Given the description of an element on the screen output the (x, y) to click on. 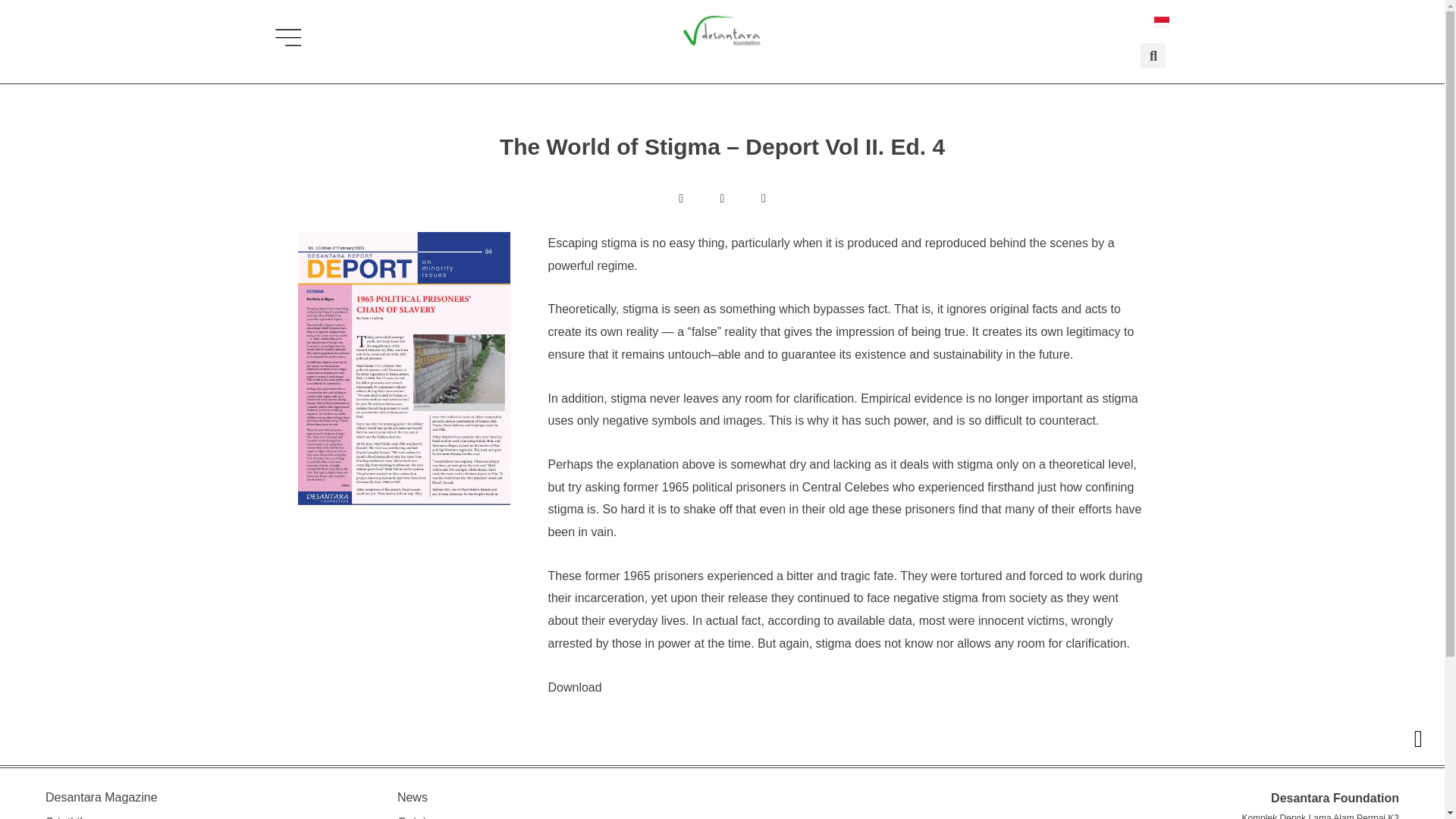
Srinthil (63, 817)
News (412, 797)
Download (574, 686)
Desantara Magazine (101, 797)
Opinion (418, 817)
